Given the description of an element on the screen output the (x, y) to click on. 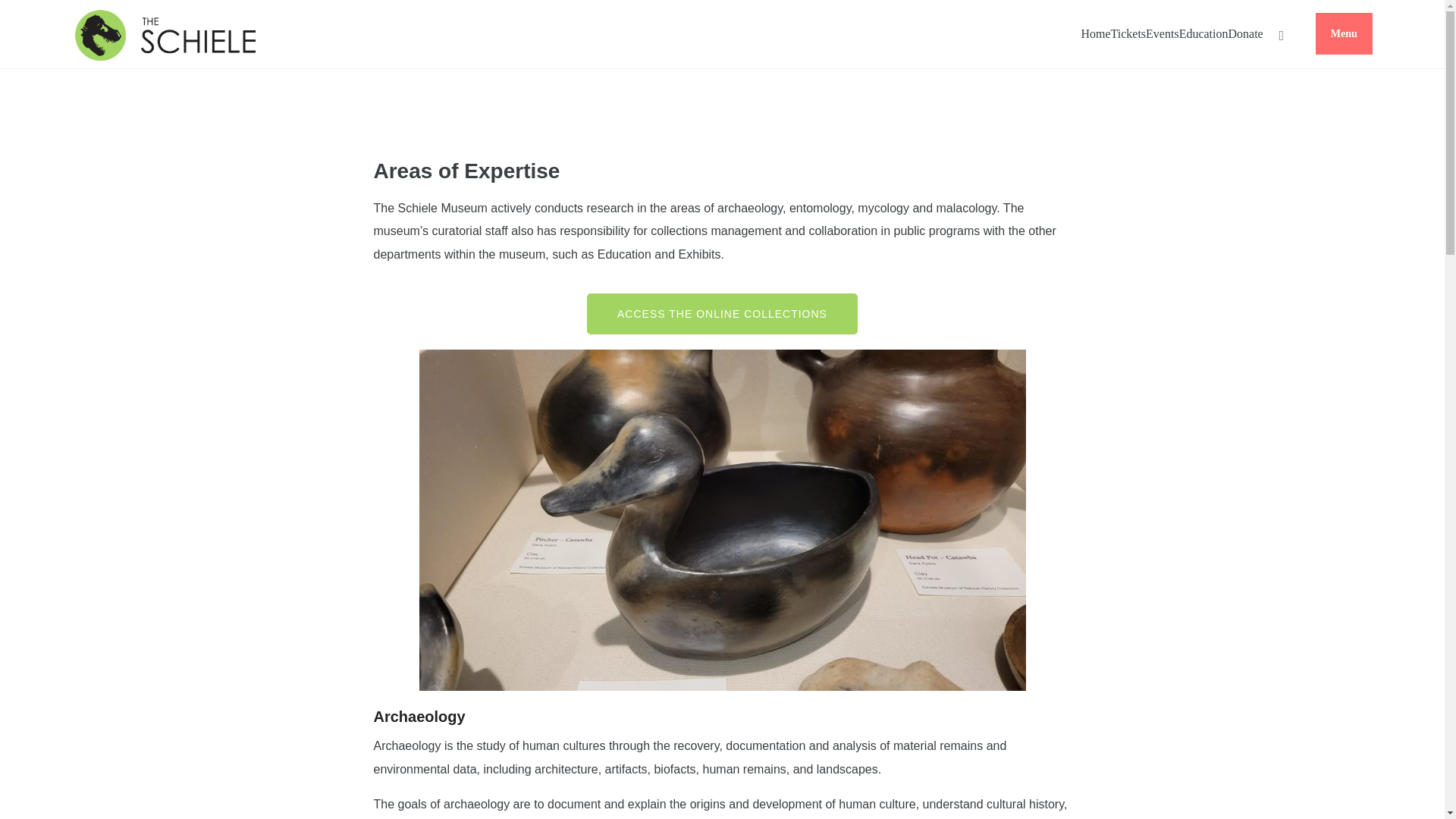
ACCESS THE ONLINE COLLECTIONS (721, 313)
Menu (1344, 33)
